Given the description of an element on the screen output the (x, y) to click on. 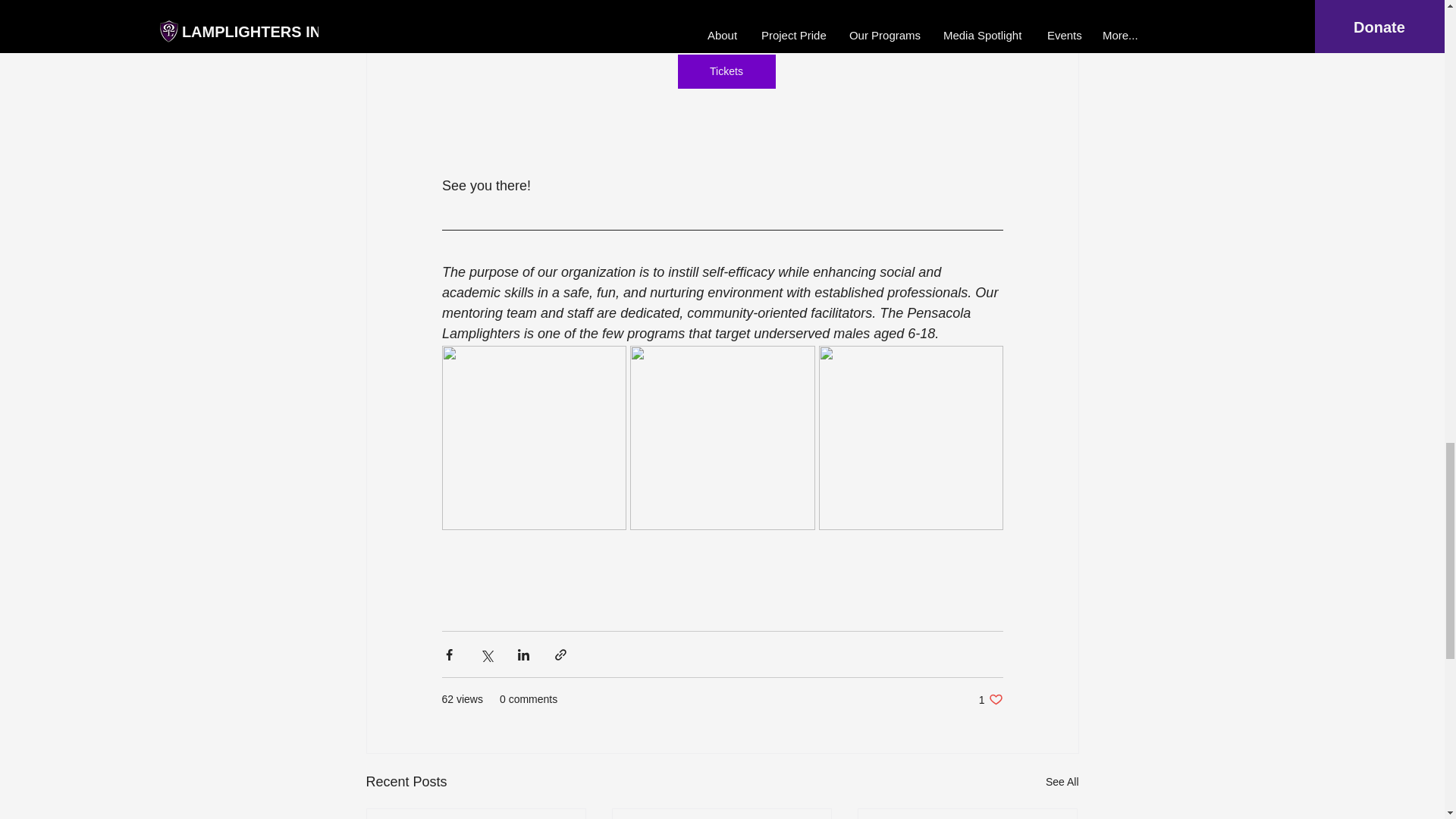
Tickets (725, 71)
See All (990, 699)
